Given the description of an element on the screen output the (x, y) to click on. 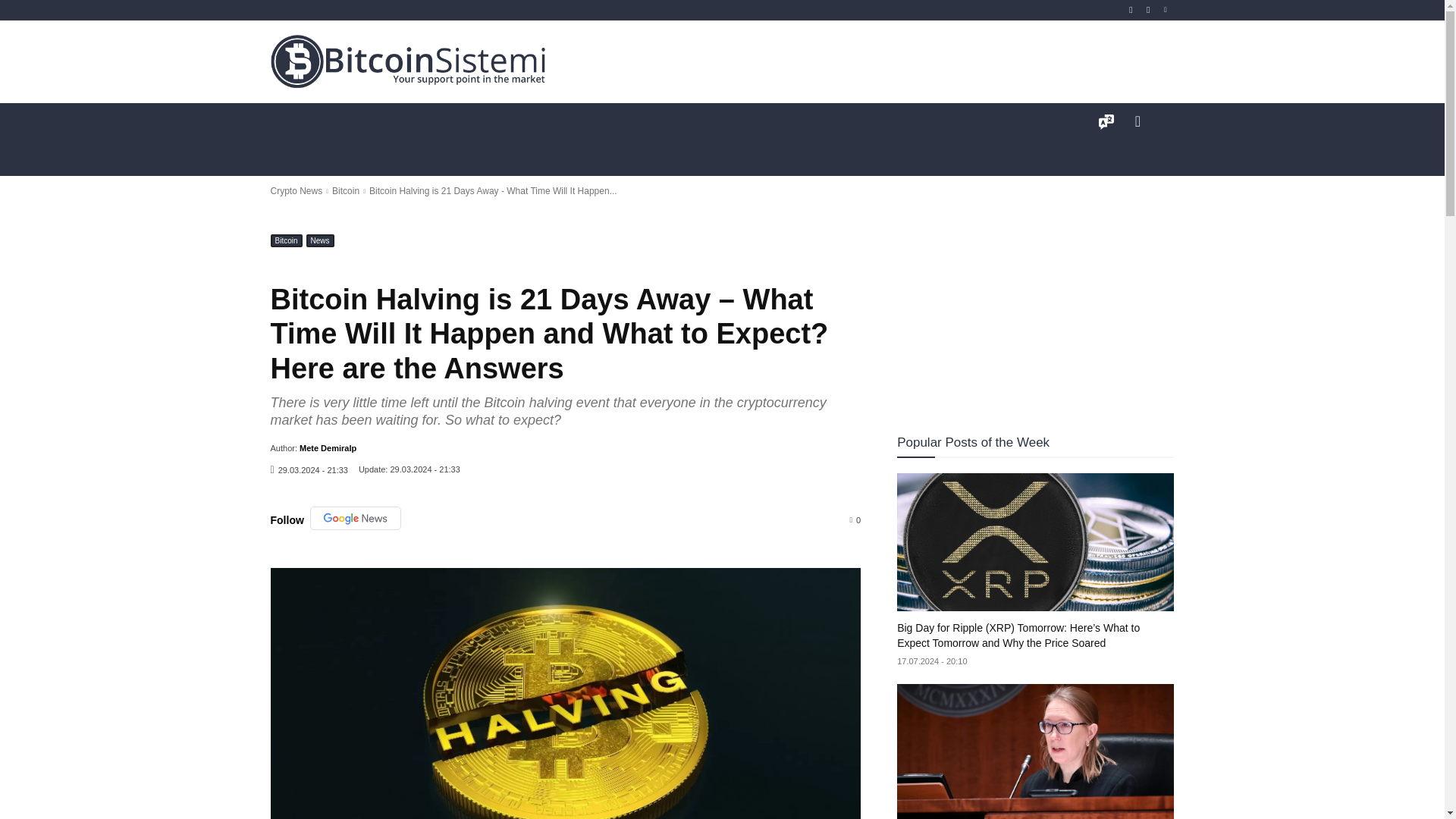
RSS (1131, 9)
Telegram (1148, 9)
Advertisement (904, 60)
View all posts in Bitcoin (345, 190)
Bitcoin Sistemi (408, 61)
Twitter (1165, 9)
